Given the description of an element on the screen output the (x, y) to click on. 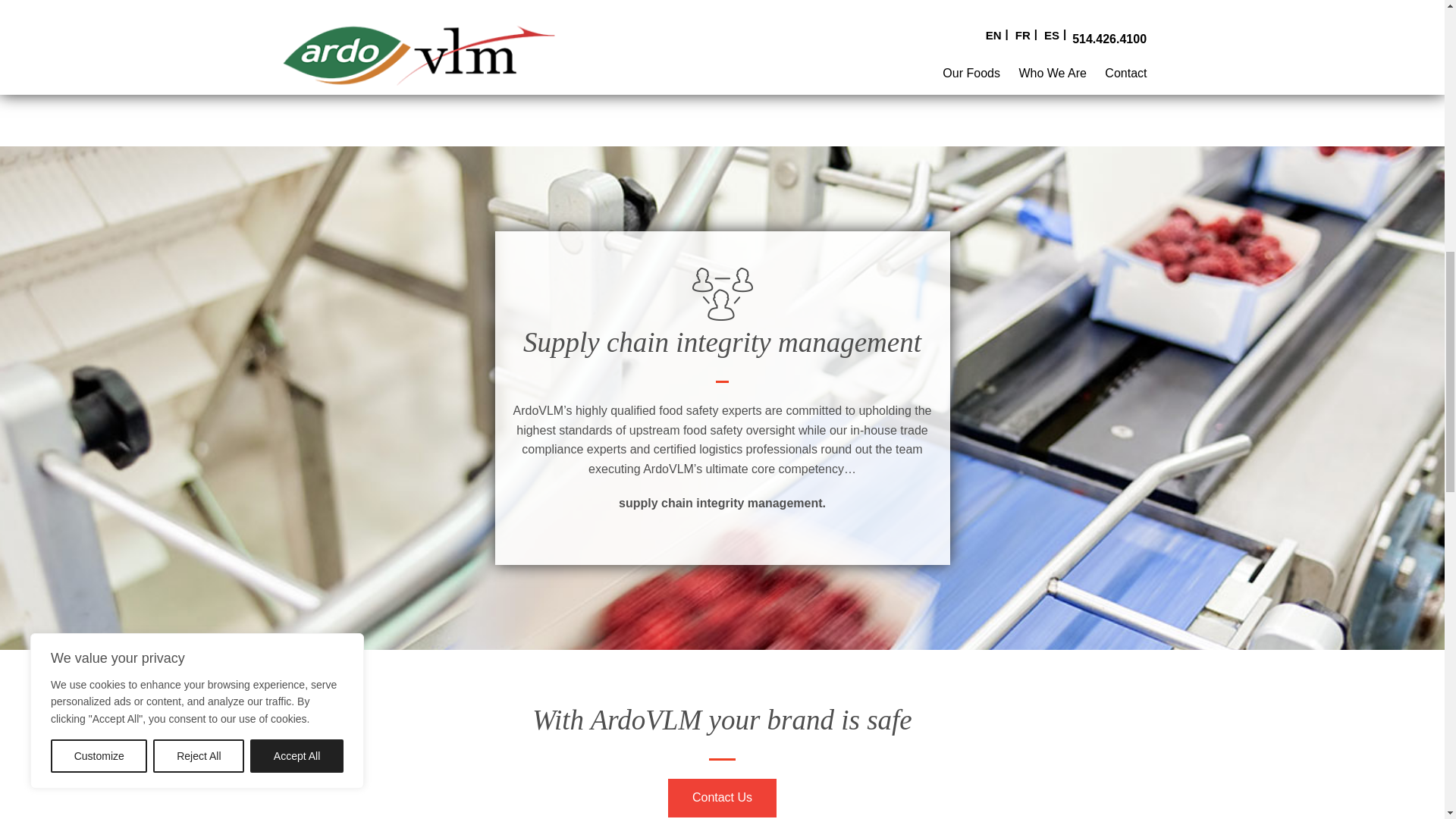
Contact Us (722, 797)
